Given the description of an element on the screen output the (x, y) to click on. 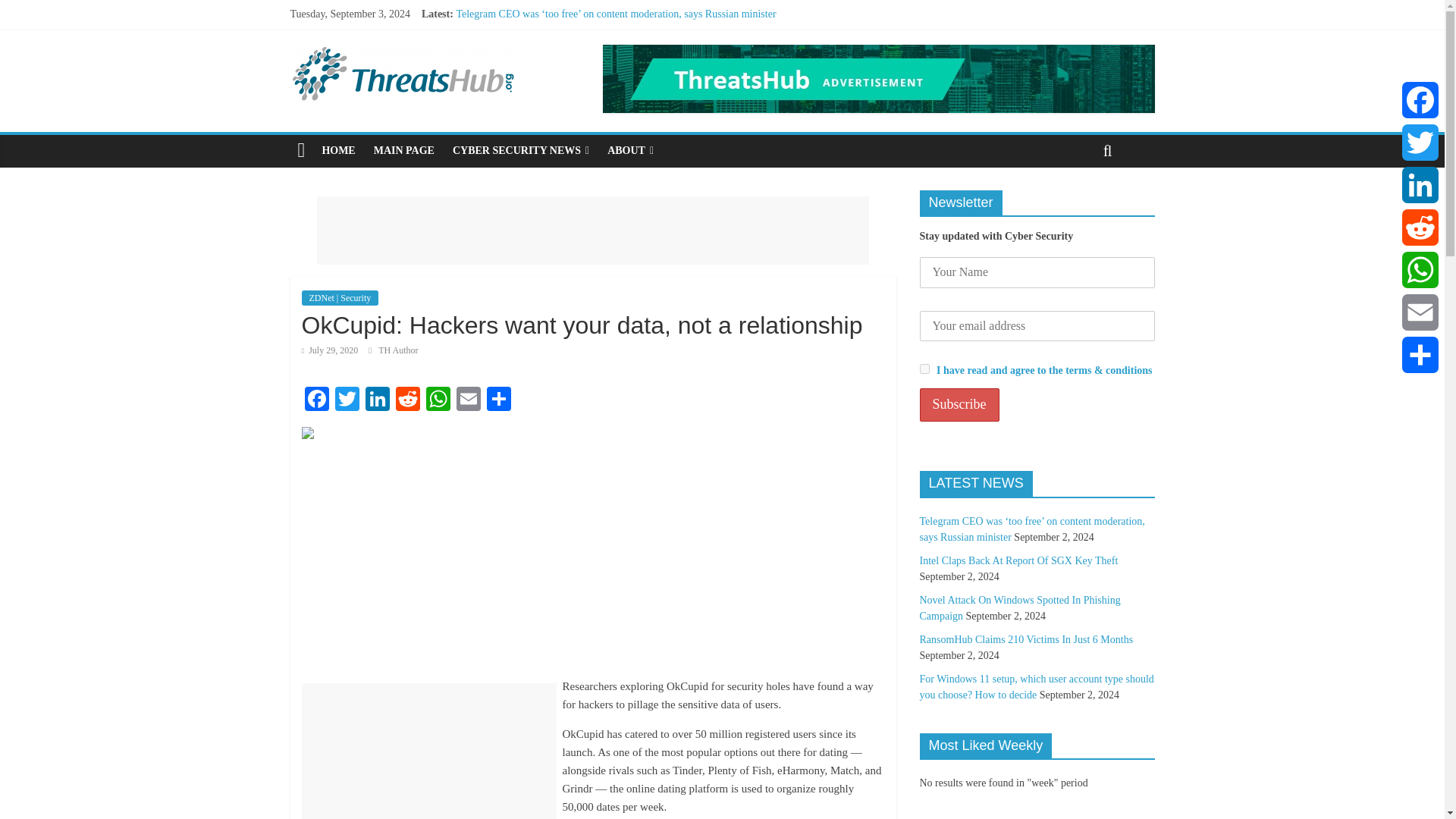
July 29, 2020 (329, 349)
RansomHub Claims 210 Victims In Just 6 Months (562, 64)
MAIN PAGE (404, 151)
1 (923, 368)
YouTube content (491, 553)
Advertisement (428, 751)
Novel Attack On Windows Spotted In Phishing Campaign (579, 48)
ABOUT (630, 151)
Subscribe (958, 404)
Email (467, 400)
